Given the description of an element on the screen output the (x, y) to click on. 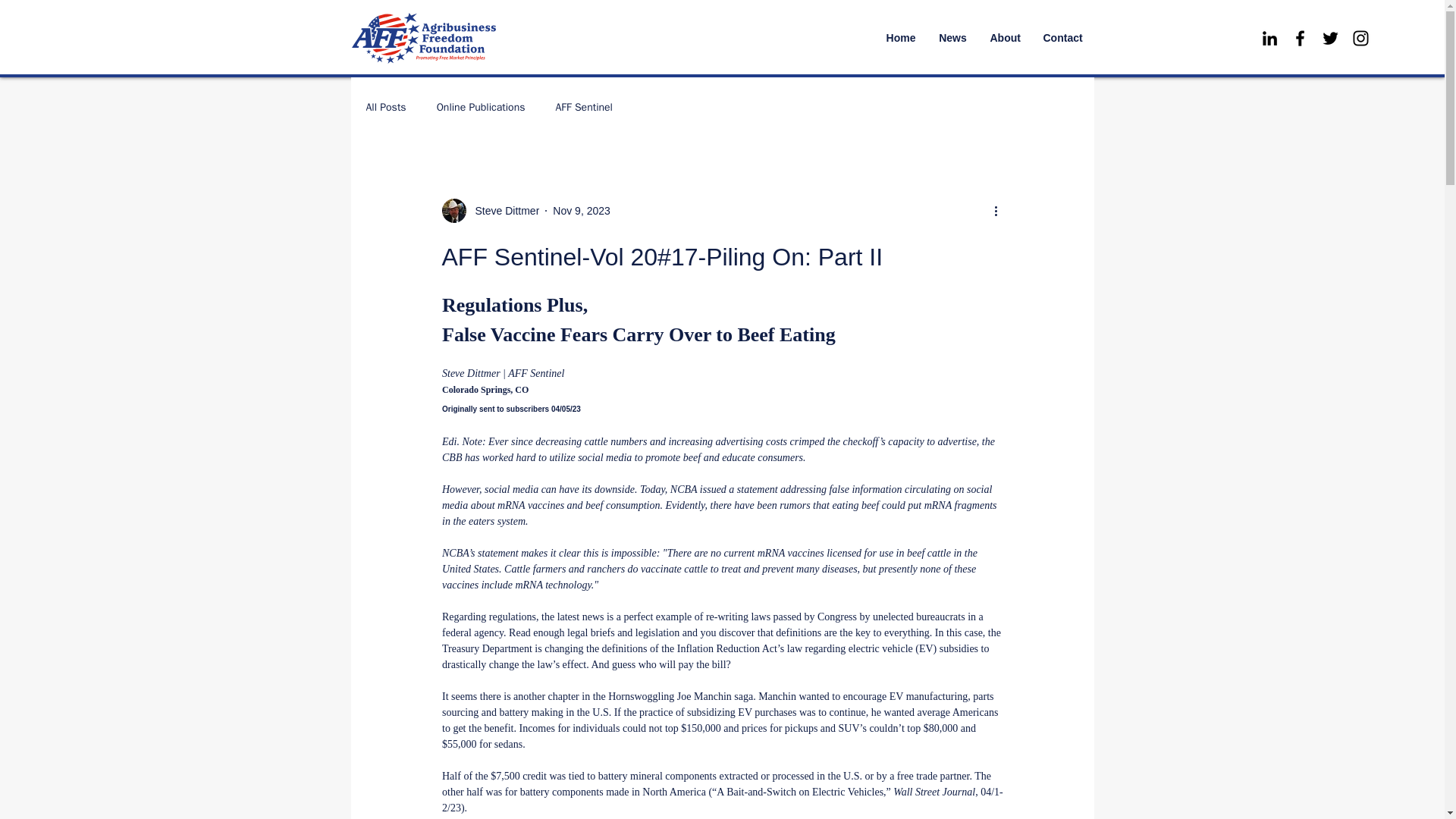
AFF Sentinel (582, 107)
About (1004, 38)
News (952, 38)
All Posts (385, 107)
Online Publications (480, 107)
Steve Dittmer (489, 210)
Nov 9, 2023 (581, 210)
Home (901, 38)
Steve Dittmer (501, 211)
Contact (1061, 38)
